Given the description of an element on the screen output the (x, y) to click on. 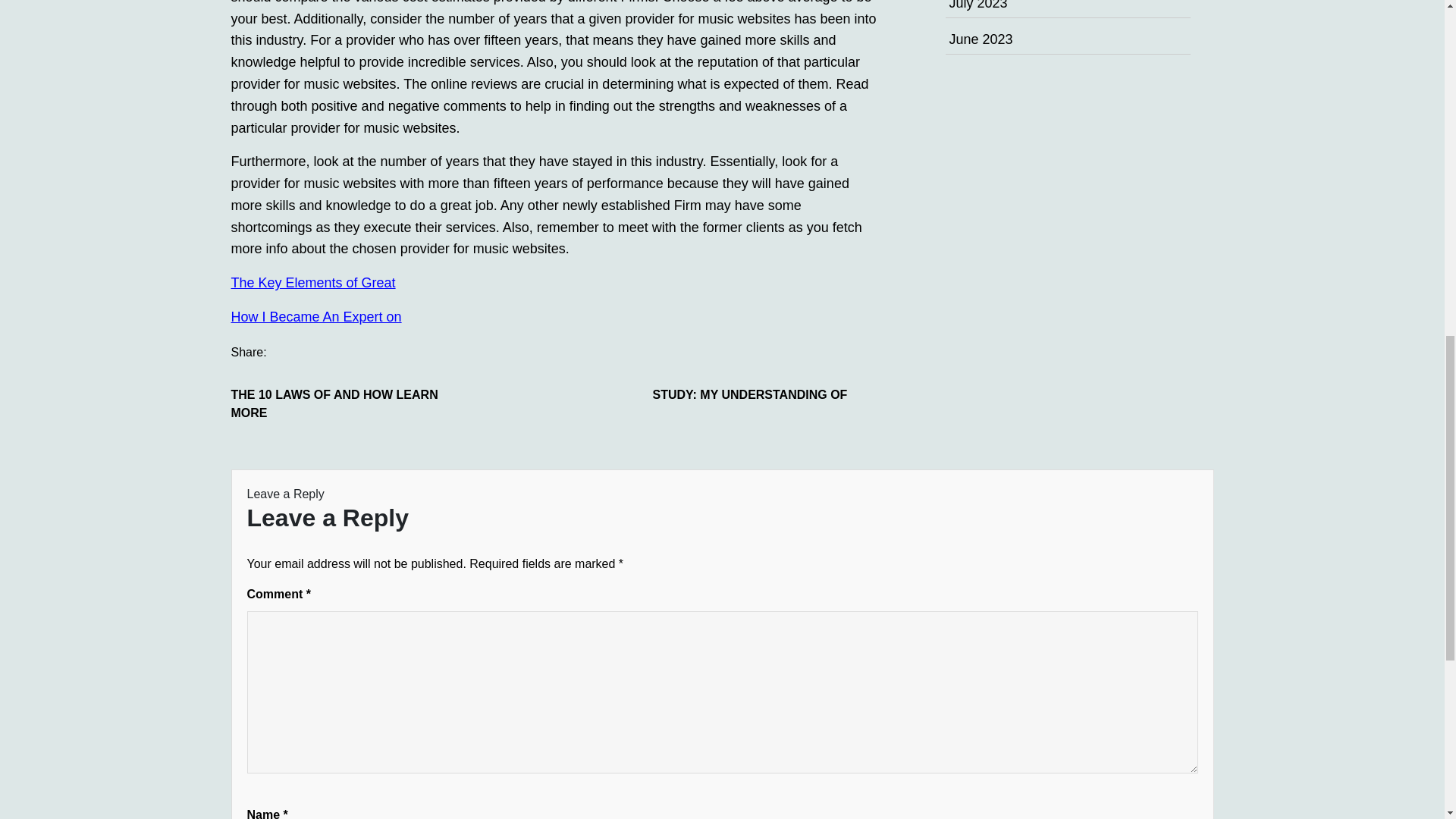
THE 10 LAWS OF AND HOW LEARN MORE (344, 403)
July 2023 (978, 5)
How I Became An Expert on (315, 316)
June 2023 (981, 38)
STUDY: MY UNDERSTANDING OF (765, 394)
The Key Elements of Great (312, 282)
